Given the description of an element on the screen output the (x, y) to click on. 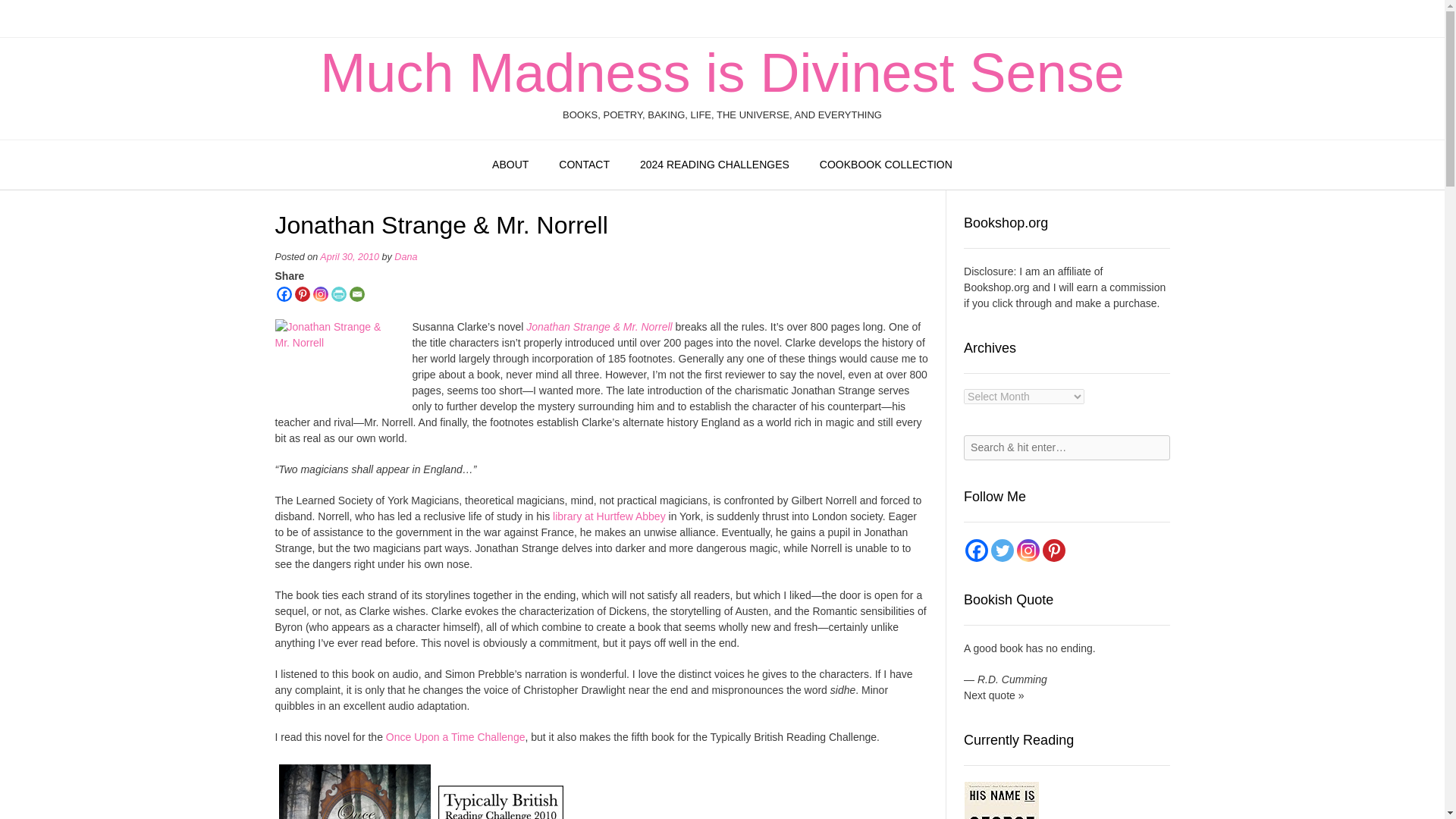
Much Madness is Divinest Sense (722, 72)
Facebook (283, 294)
PrintFriendly (338, 294)
Pinterest (301, 294)
ABOUT (510, 165)
CONTACT (583, 165)
Email (356, 294)
library at Hurtfew Abbey (609, 516)
Much Madness is Divinest Sense (722, 72)
Once Upon a Time Challenge (455, 736)
Instagram (320, 294)
Dana (405, 256)
Facebook (976, 549)
April 30, 2010 (349, 256)
